Given the description of an element on the screen output the (x, y) to click on. 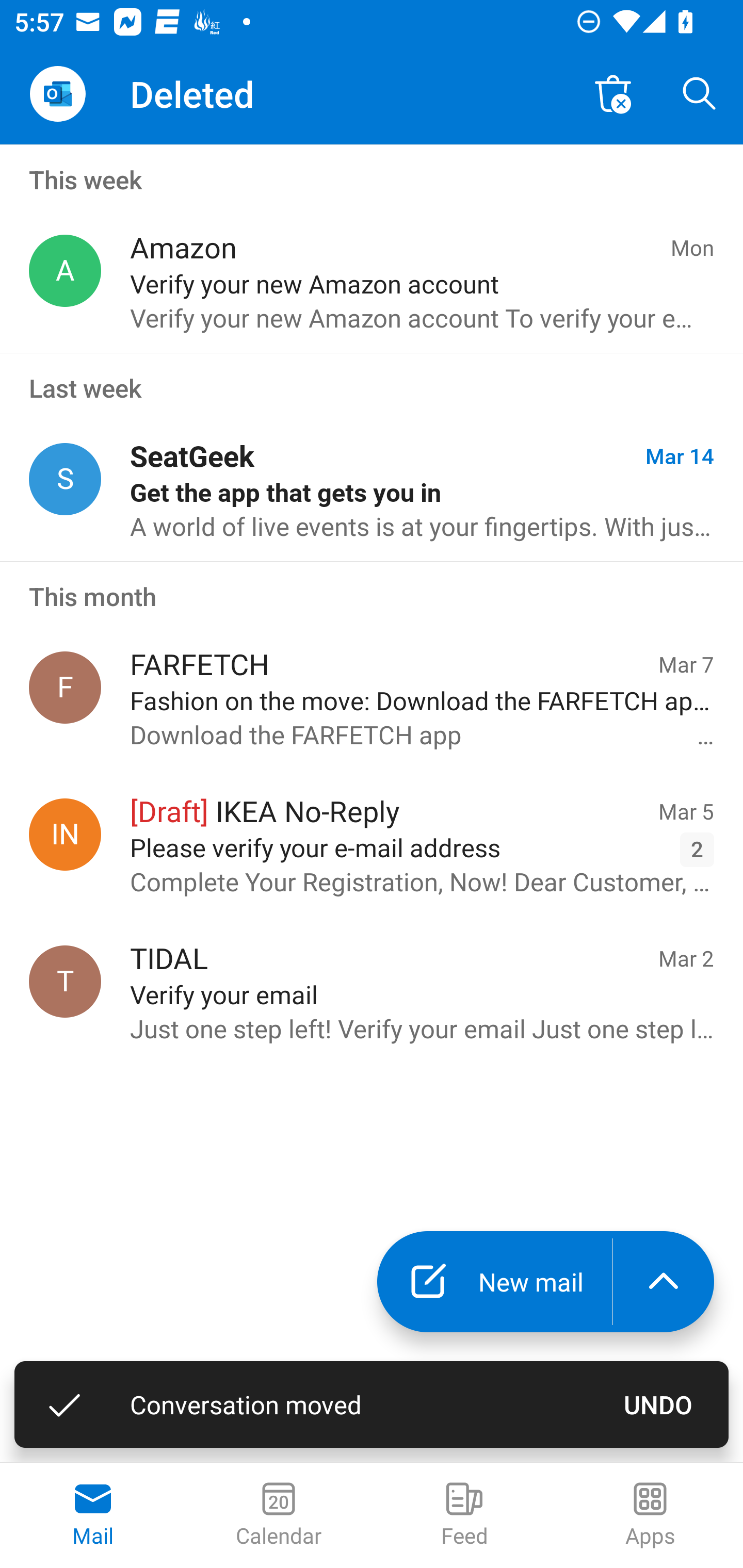
Empty Deleted (612, 93)
Search, ,  (699, 93)
Open Navigation Drawer (57, 94)
Amazon, account-update@amazon.com (64, 271)
SeatGeek, events@seatgeek.com (64, 479)
FARFETCH, farfetch@email.farfetch.com (64, 687)
IKEA No-Reply, noreply@ikea.com.hk (64, 834)
TIDAL, account@info.tidal.com (64, 981)
New mail (494, 1281)
launch the extended action menu (663, 1281)
UNDO (658, 1404)
Calendar (278, 1515)
Feed (464, 1515)
Apps (650, 1515)
